Given the description of an element on the screen output the (x, y) to click on. 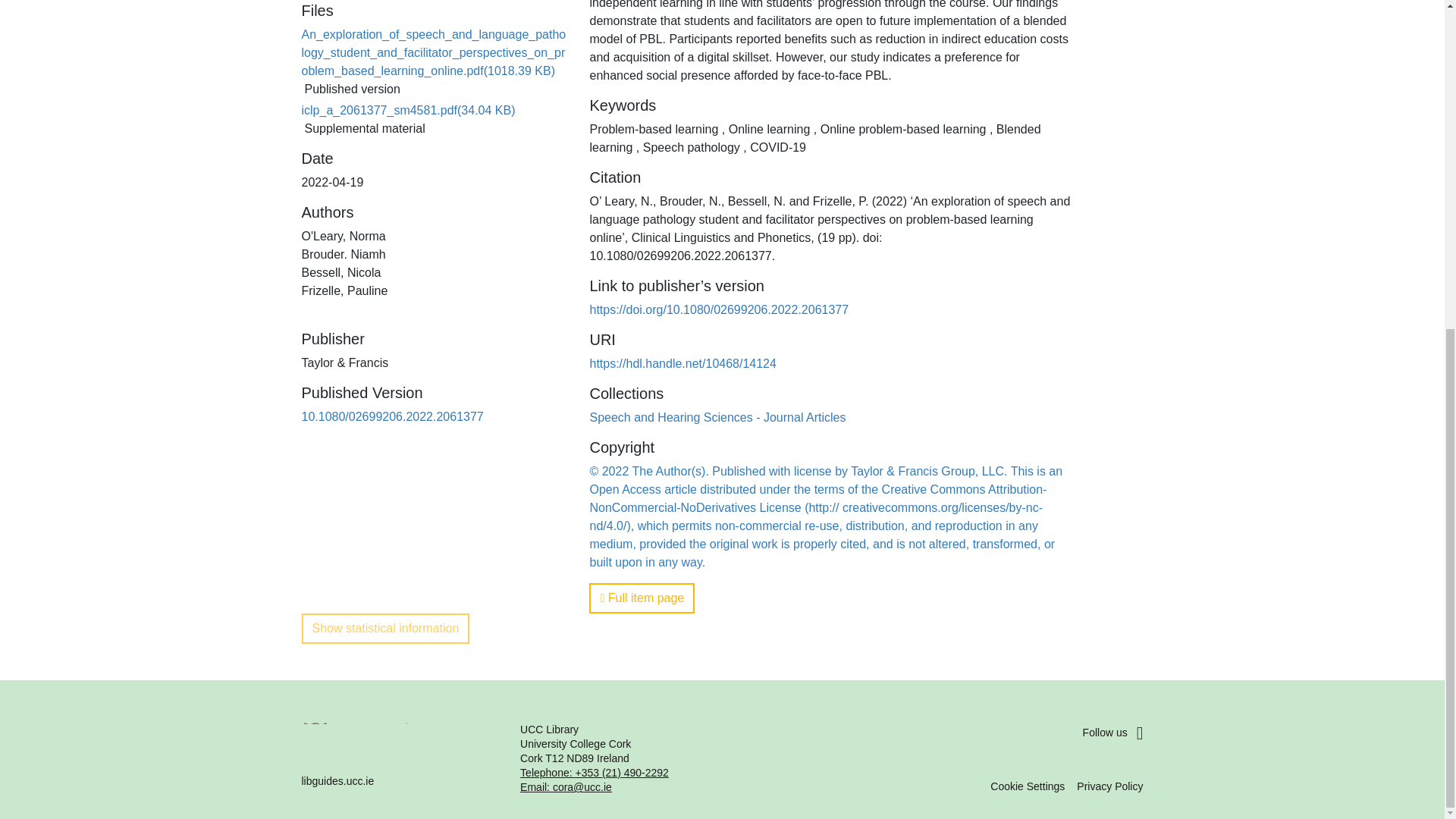
Cookie Settings (1027, 786)
Privacy Policy (1109, 786)
Full item page (641, 598)
libguides.ucc.ie (401, 758)
Show statistical information (385, 628)
Speech and Hearing Sciences - Journal Articles (717, 417)
